Given the description of an element on the screen output the (x, y) to click on. 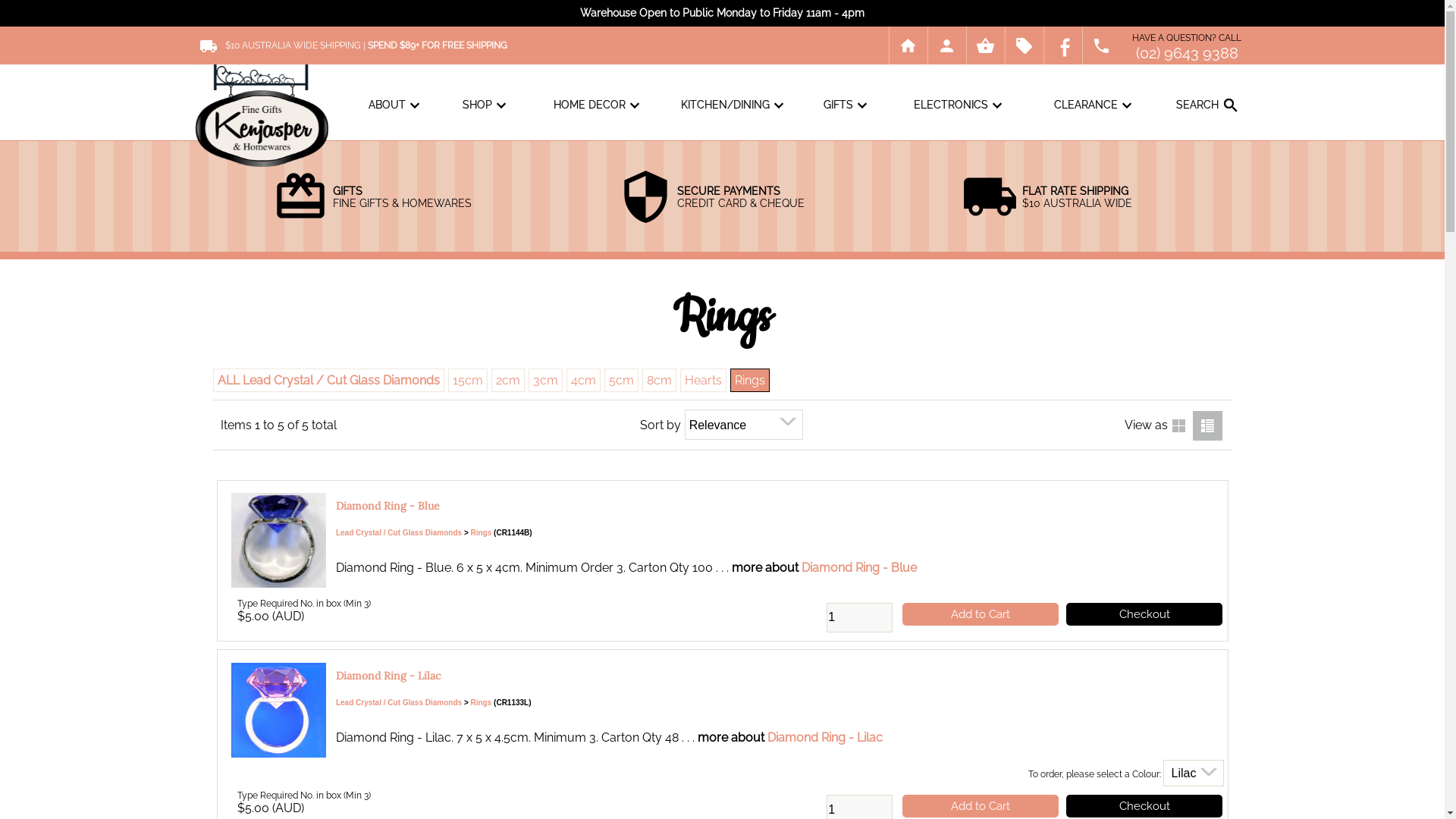
local_offer Element type: text (1024, 45)
GIFTSexpand_more Element type: text (847, 104)
Diamond Ring - Blue Element type: text (858, 567)
ALL Lead Crystal / Cut Glass Diamonds Element type: text (327, 380)
Lead Crystal / Cut Glass Diamonds Element type: text (398, 702)
SEARCH Element type: text (1191, 165)
3cm Element type: text (544, 380)
5cm Element type: text (620, 380)
Rings Element type: text (481, 532)
Hearts Element type: text (702, 380)
SEARCH search Element type: text (1208, 104)
SHOPexpand_more Element type: text (486, 104)
Diamond Ring - Lilac Element type: text (387, 675)
4cm Element type: text (582, 380)
ABOUTexpand_more Element type: text (395, 104)
Diamond Ring - Lilac Element type: text (824, 737)
Diamond Ring - Blue Element type: text (387, 505)
person Element type: text (947, 45)
(02) 9643 9388 Element type: text (1186, 52)
shopping_basket Element type: text (985, 45)
15cm Element type: text (466, 380)
2cm Element type: text (507, 380)
HOME DECORexpand_more Element type: text (598, 104)
home Element type: text (907, 45)
Checkout Element type: text (1144, 805)
Rings Element type: text (481, 702)
Checkout Element type: text (1144, 613)
CLEARANCEexpand_more Element type: text (1095, 104)
ELECTRONICSexpand_more Element type: text (959, 104)
phone Element type: text (1101, 45)
Lead Crystal / Cut Glass Diamonds Element type: text (398, 532)
Add to Cart Element type: text (980, 613)
8cm Element type: text (658, 380)
Add to Cart Element type: text (980, 805)
KITCHEN/DININGexpand_more Element type: text (734, 104)
